Given the description of an element on the screen output the (x, y) to click on. 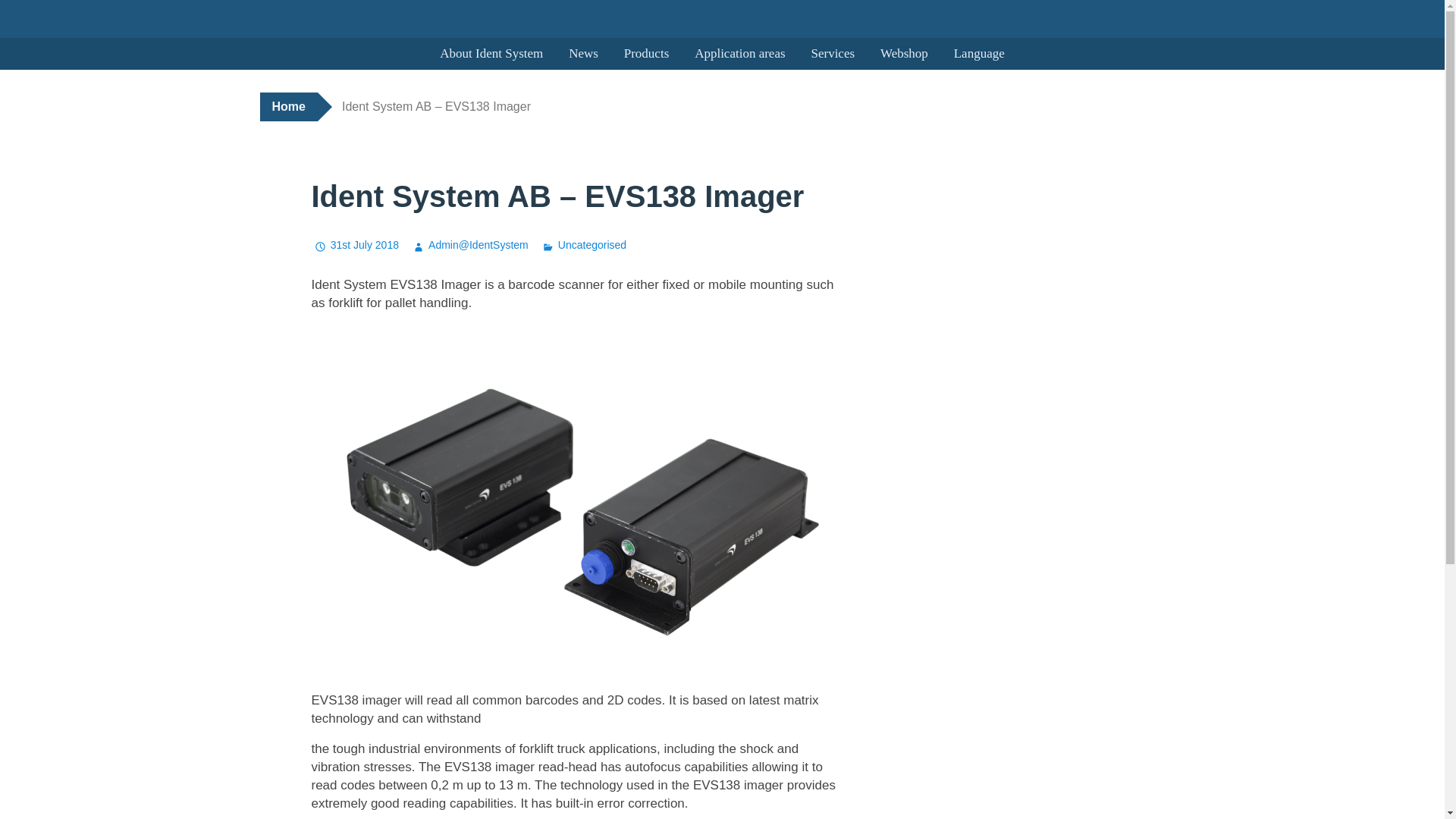
IDENTSYSTEM AB (122, 53)
About Ident System (491, 53)
News (583, 53)
Products (646, 53)
